Given the description of an element on the screen output the (x, y) to click on. 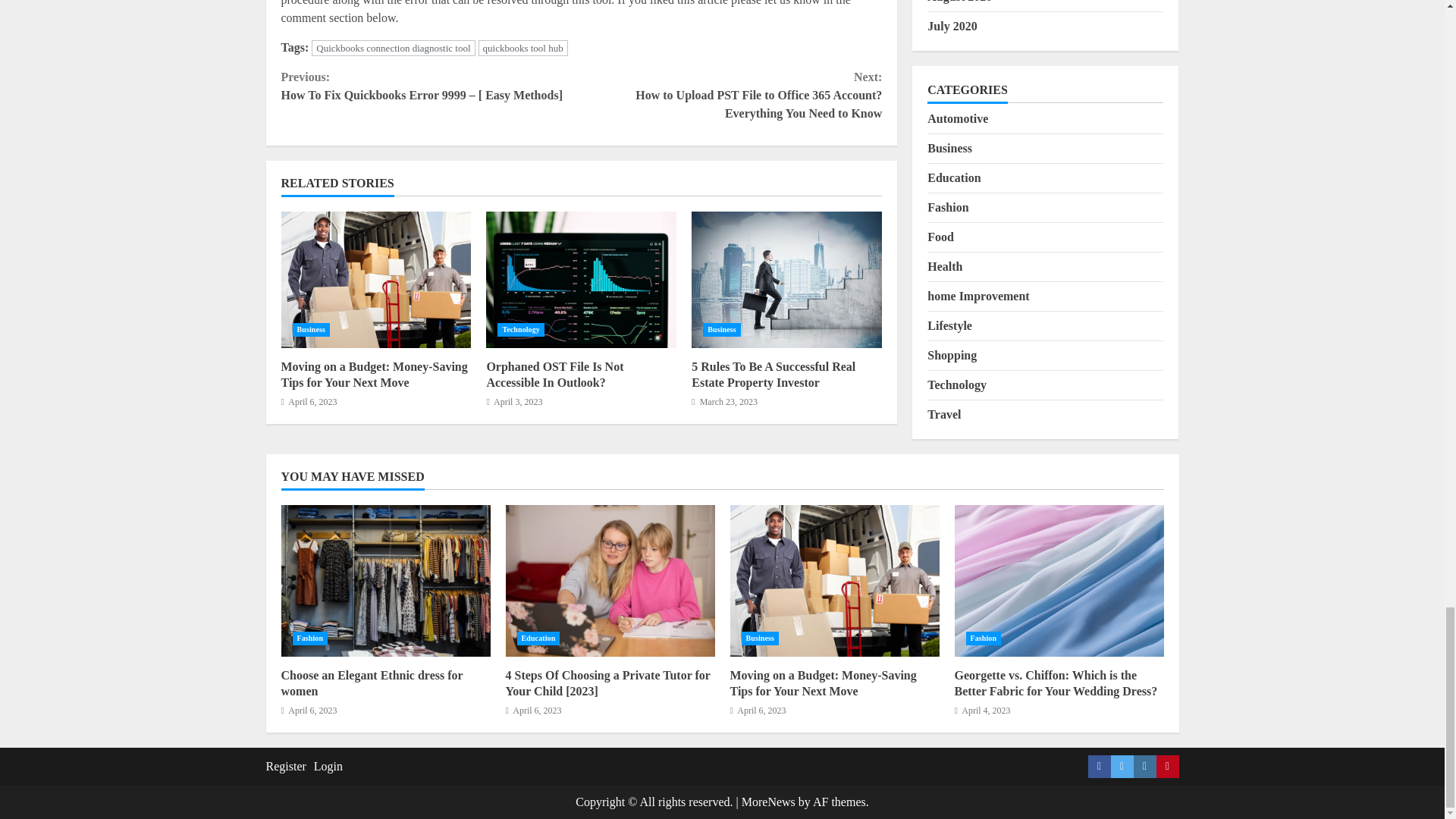
Moving on a Budget: Money-Saving Tips for Your Next Move (374, 374)
Quickbooks connection diagnostic tool (392, 48)
Moving on a Budget: Money-Saving Tips for Your Next Move (375, 279)
quickbooks tool hub (523, 48)
Business (311, 329)
Orphaned OST File Is Not Accessible In Outlook? (581, 279)
